Given the description of an element on the screen output the (x, y) to click on. 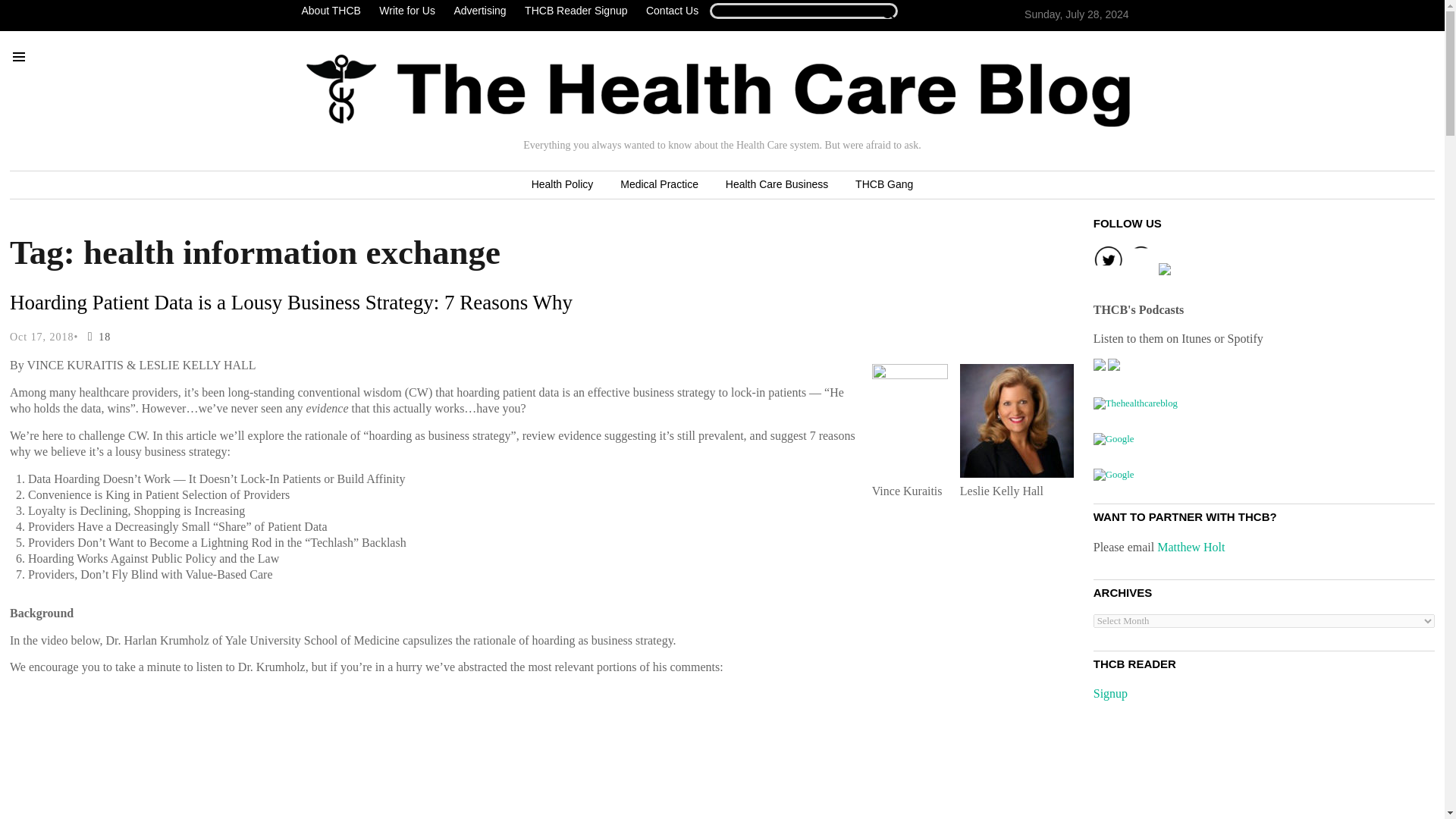
Medical Practice (659, 184)
THCB Gang (883, 184)
Health Policy (562, 184)
18 (95, 337)
Write for Us (406, 10)
Contact Us (672, 10)
Home (718, 90)
Health Care Business (776, 184)
THCB Reader Signup (575, 10)
About THCB (334, 10)
Advertising (479, 10)
